Given the description of an element on the screen output the (x, y) to click on. 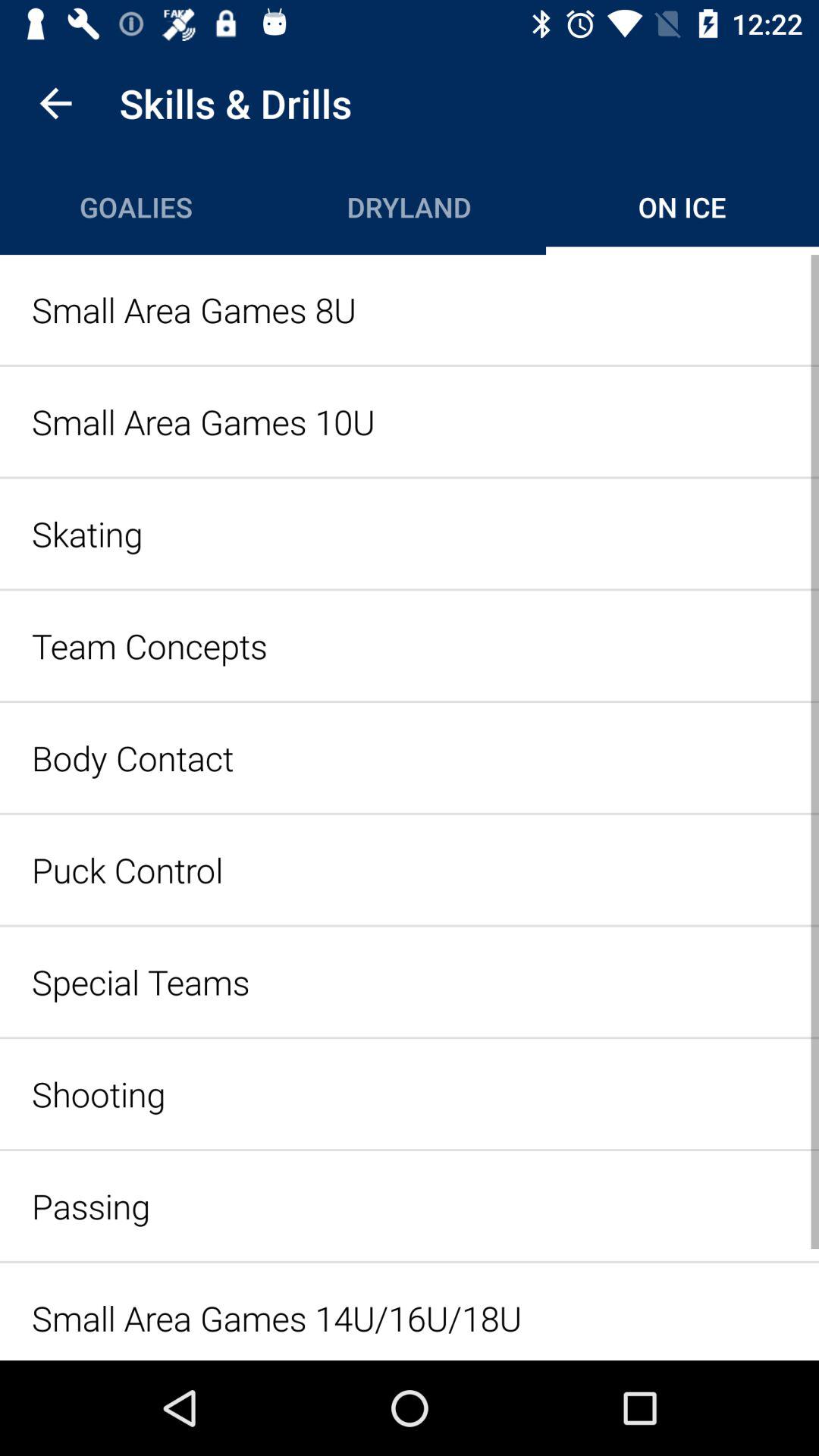
launch the item below body contact (409, 869)
